Given the description of an element on the screen output the (x, y) to click on. 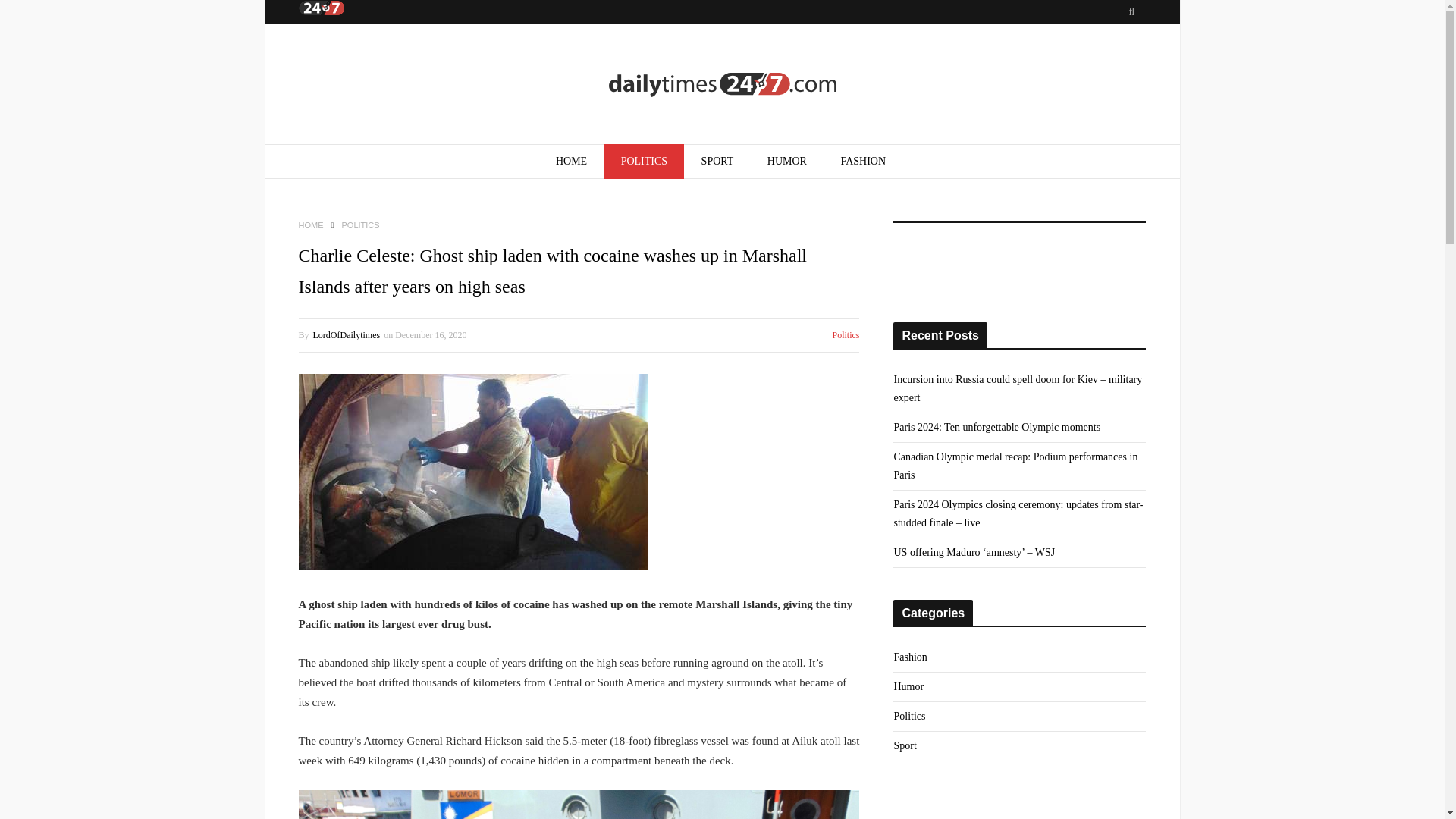
Politics (908, 716)
POLITICS (361, 225)
Politics (845, 335)
Humor (908, 687)
POLITICS (644, 161)
Canadian Olympic medal recap: Podium performances in Paris (1015, 465)
Sport (904, 746)
HUMOR (787, 161)
LordOfDailytimes (346, 335)
HOME (310, 225)
